Given the description of an element on the screen output the (x, y) to click on. 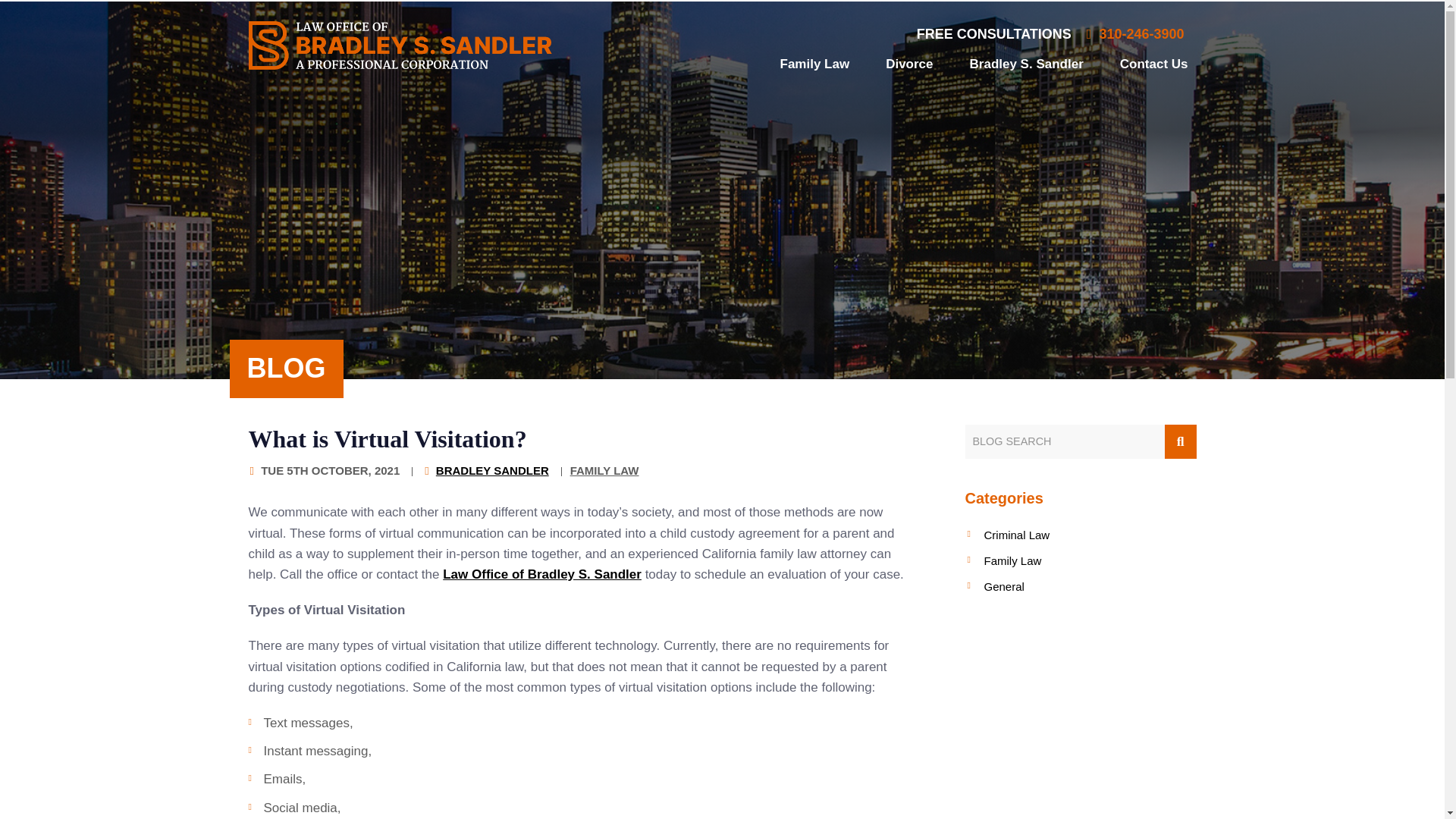
Posts by Bradley Sandler (491, 470)
